Given the description of an element on the screen output the (x, y) to click on. 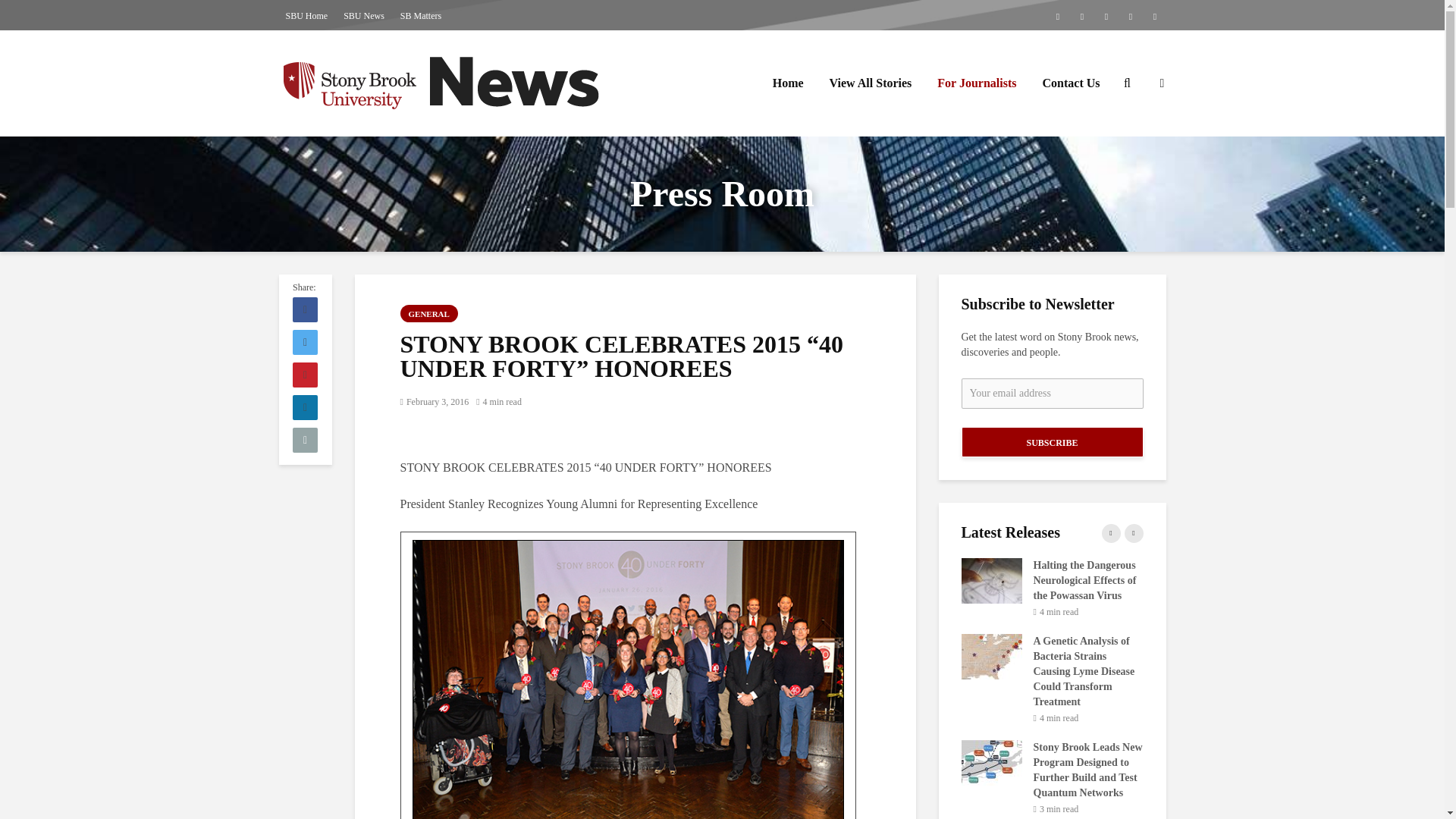
Home (788, 82)
SBU News (363, 15)
Contact Us (1071, 82)
SBU Home (306, 15)
For Journalists (976, 82)
SB Matters (420, 15)
Subscribe (1051, 441)
